Given the description of an element on the screen output the (x, y) to click on. 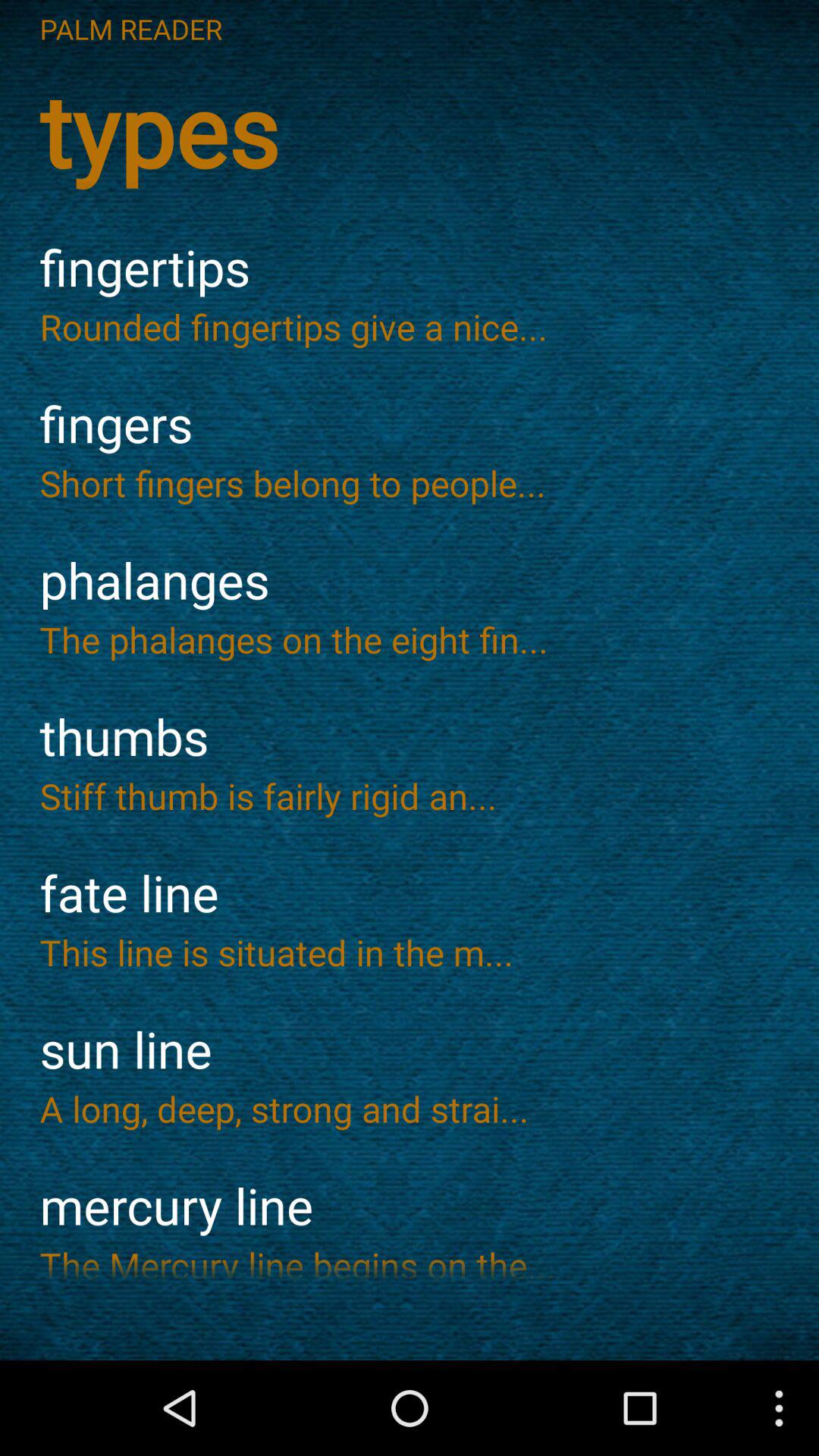
press icon below the this line is (409, 1049)
